Given the description of an element on the screen output the (x, y) to click on. 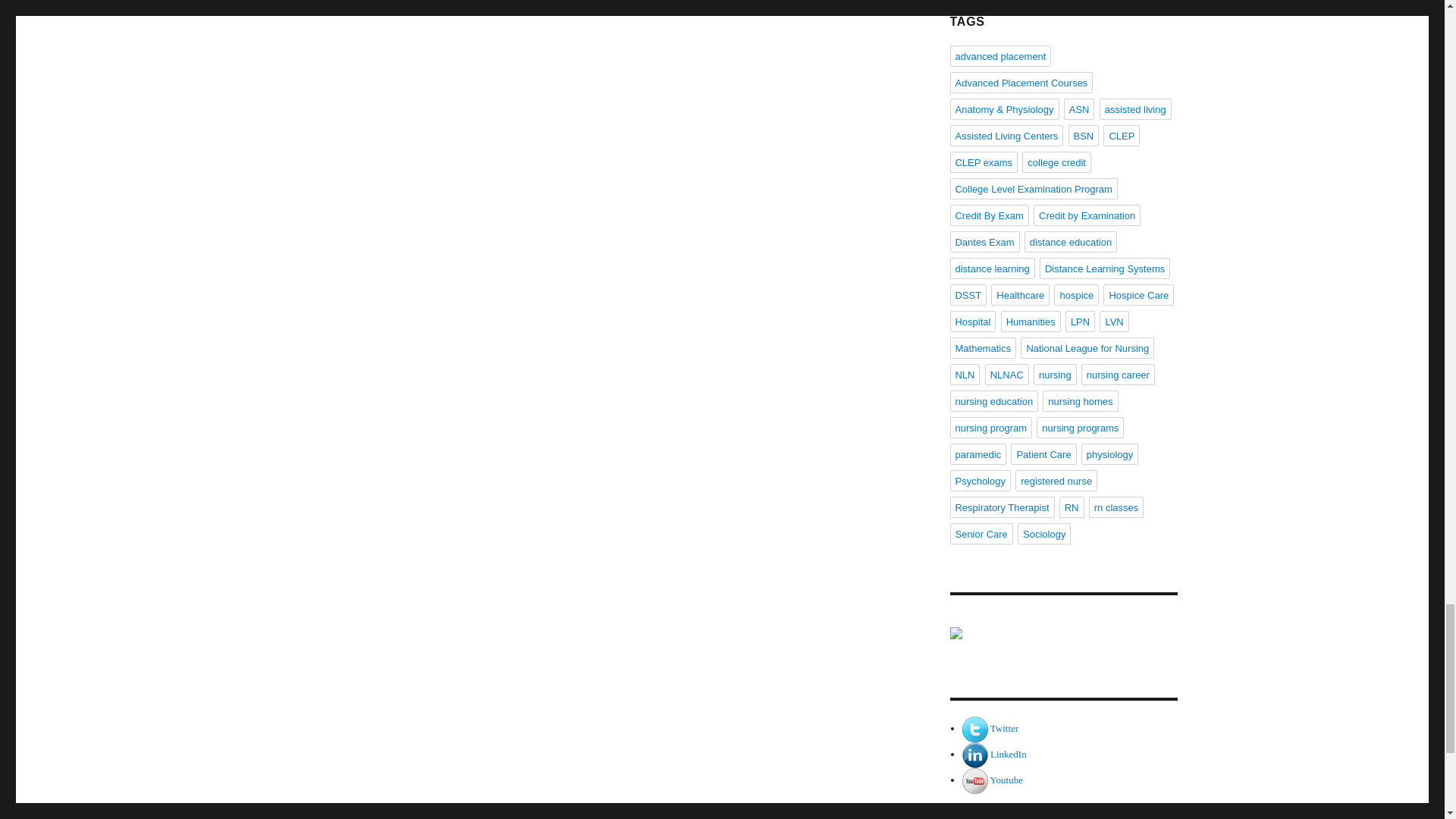
Visit myLinkedInprofile (975, 754)
Visit myTwitterprofile (975, 727)
Visit myLinkedInprofile (1008, 754)
Distance Learning Systems (1062, 646)
Visit myTwitterprofile (1003, 727)
Visit myYoutubeprofile (975, 779)
Visit myYoutubeprofile (1006, 779)
